Given the description of an element on the screen output the (x, y) to click on. 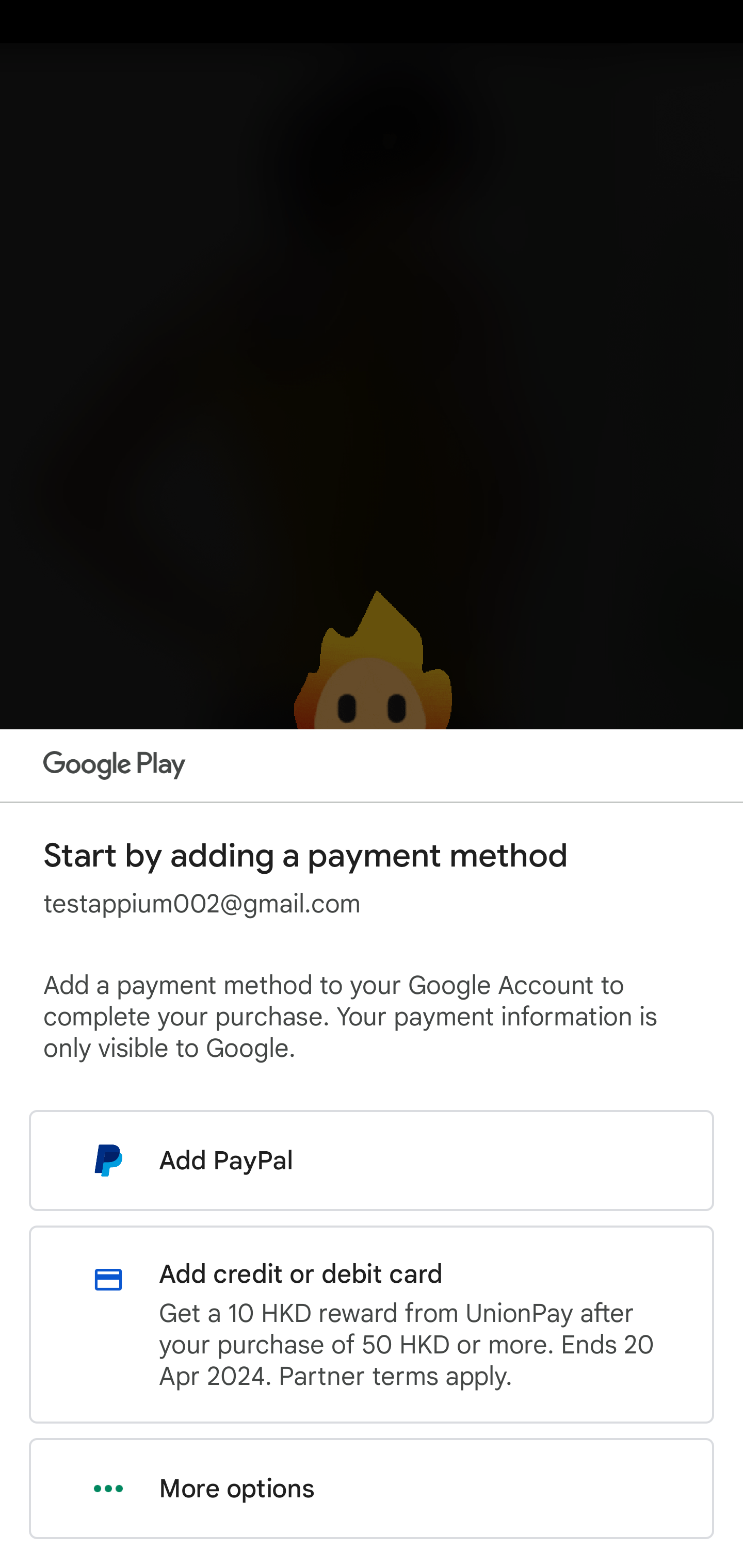
Add PayPal (371, 1160)
More options (371, 1488)
